Given the description of an element on the screen output the (x, y) to click on. 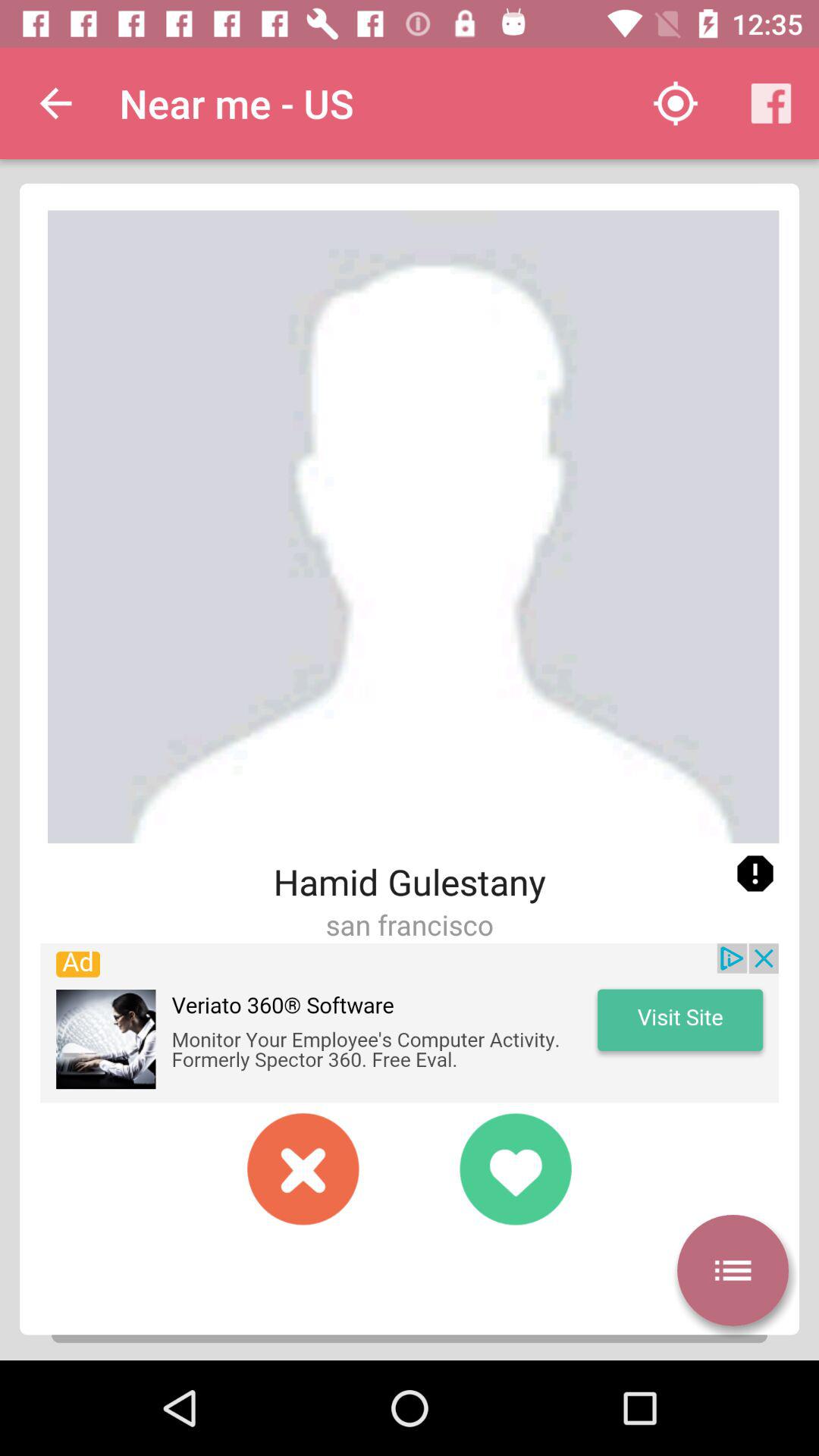
accept (515, 1169)
